Given the description of an element on the screen output the (x, y) to click on. 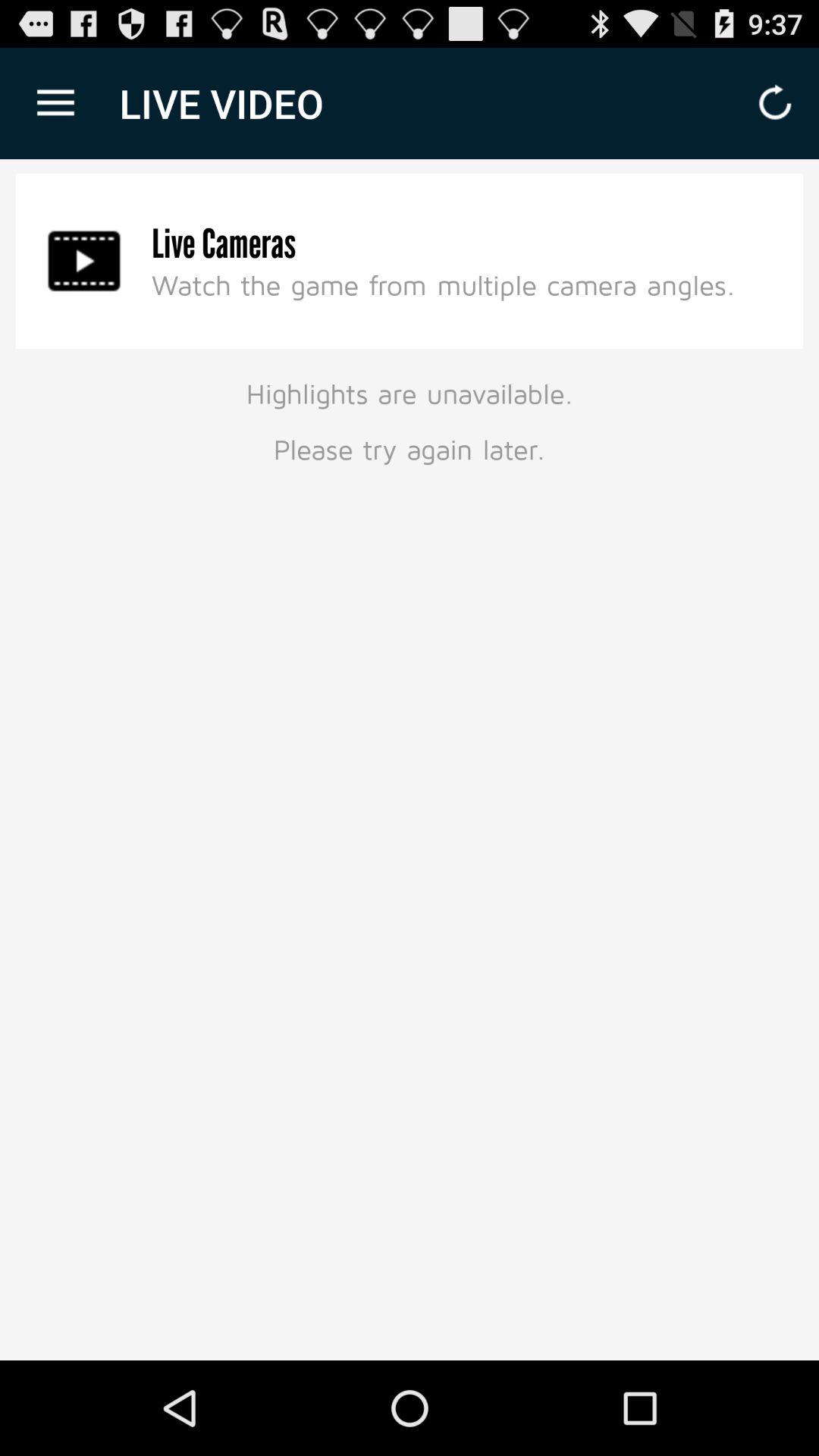
open item next to live video item (55, 103)
